Given the description of an element on the screen output the (x, y) to click on. 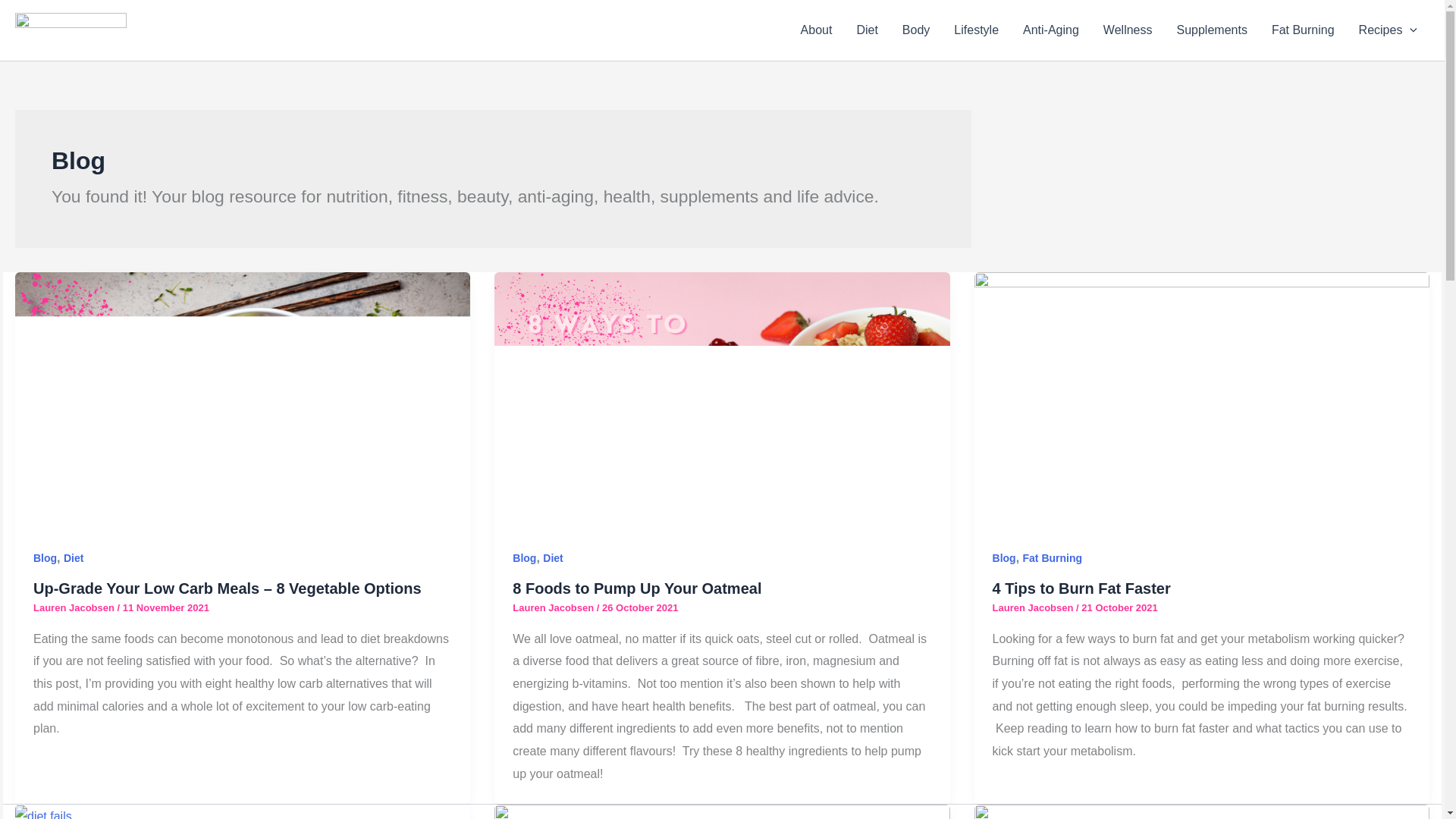
View all posts by Lauren Jacobsen (1034, 607)
View all posts by Lauren Jacobsen (75, 607)
Diet (73, 558)
Blog (44, 558)
Fat Burning (1302, 30)
Recipes (1387, 30)
Lifestyle (976, 30)
View all posts by Lauren Jacobsen (554, 607)
Lauren Jacobsen (75, 607)
About (816, 30)
Supplements (1211, 30)
Anti-Aging (1050, 30)
Wellness (1127, 30)
